Given the description of an element on the screen output the (x, y) to click on. 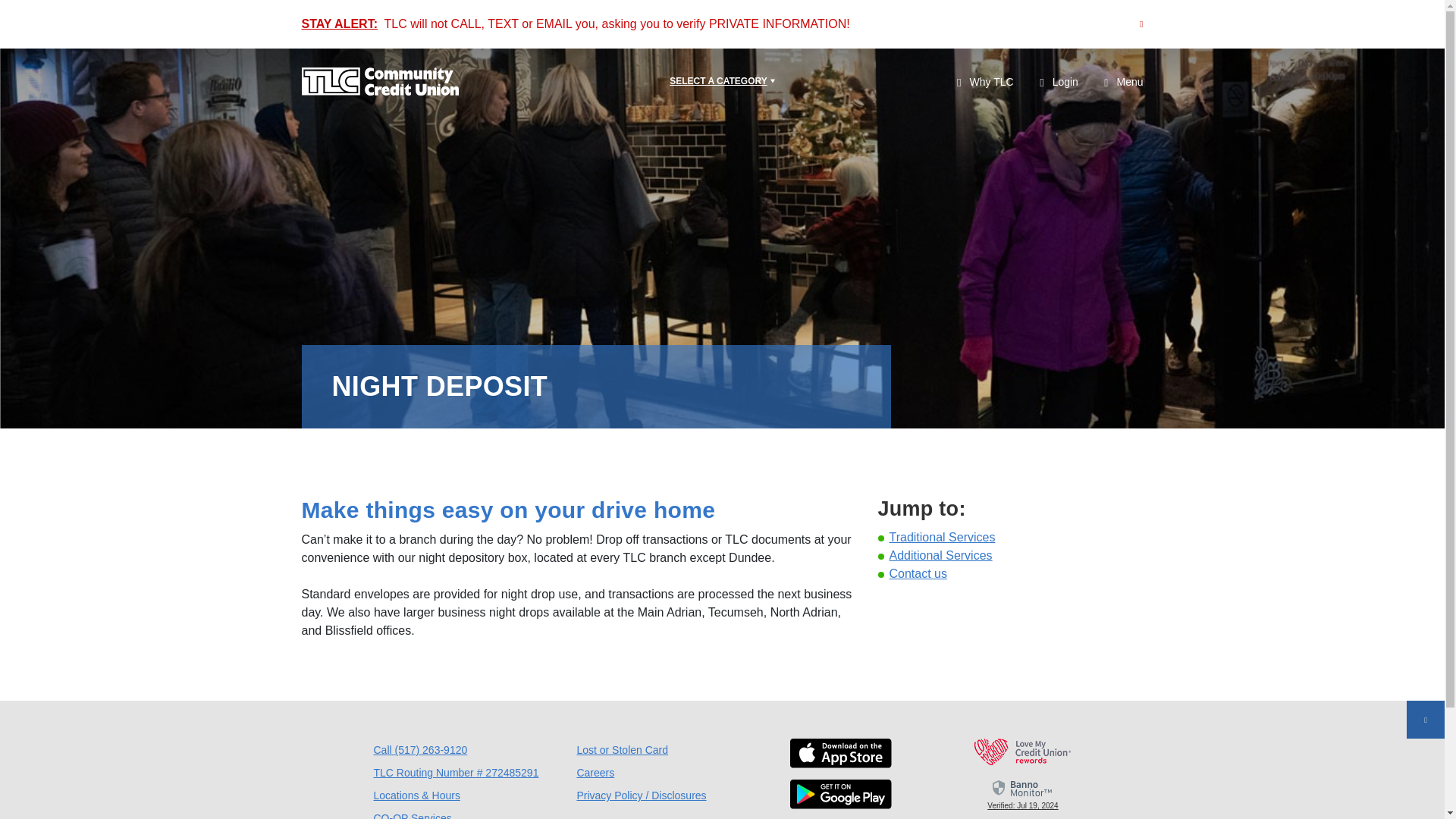
TLC Community Credit Union, Adrian, MI (379, 81)
Monitor Scan Details (1022, 793)
STAY ALERT: (339, 23)
Login (1058, 82)
Menu (1122, 82)
Scanned by Banno Monitor (1023, 788)
Why TLC (984, 82)
